Given the description of an element on the screen output the (x, y) to click on. 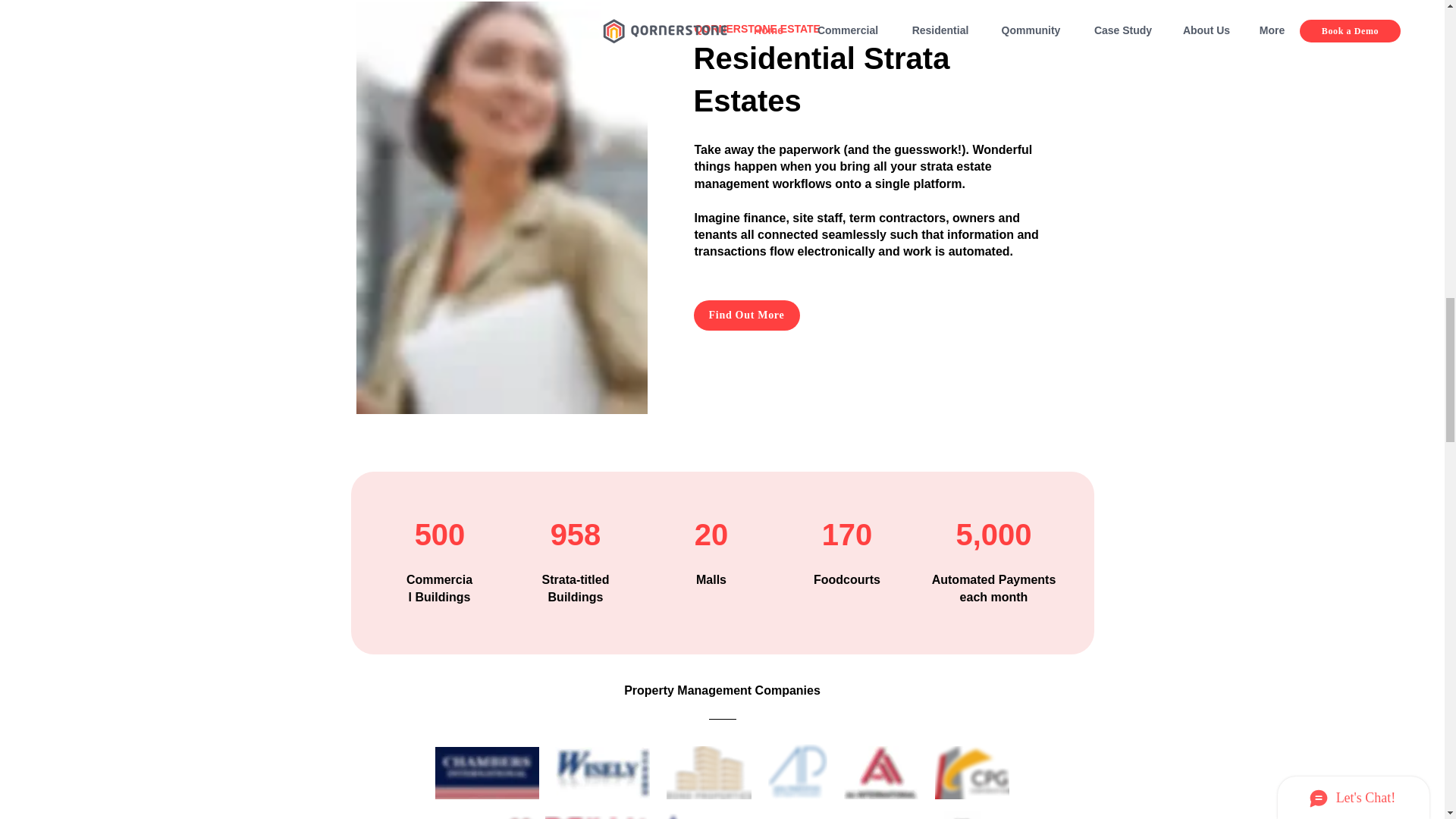
Bond-Properties-logo.png (708, 772)
Find Out More (746, 315)
chambers logo.jpeg (486, 772)
CPG-Corp-logo.png (971, 772)
A4 international logo.jpeg (880, 772)
